Given the description of an element on the screen output the (x, y) to click on. 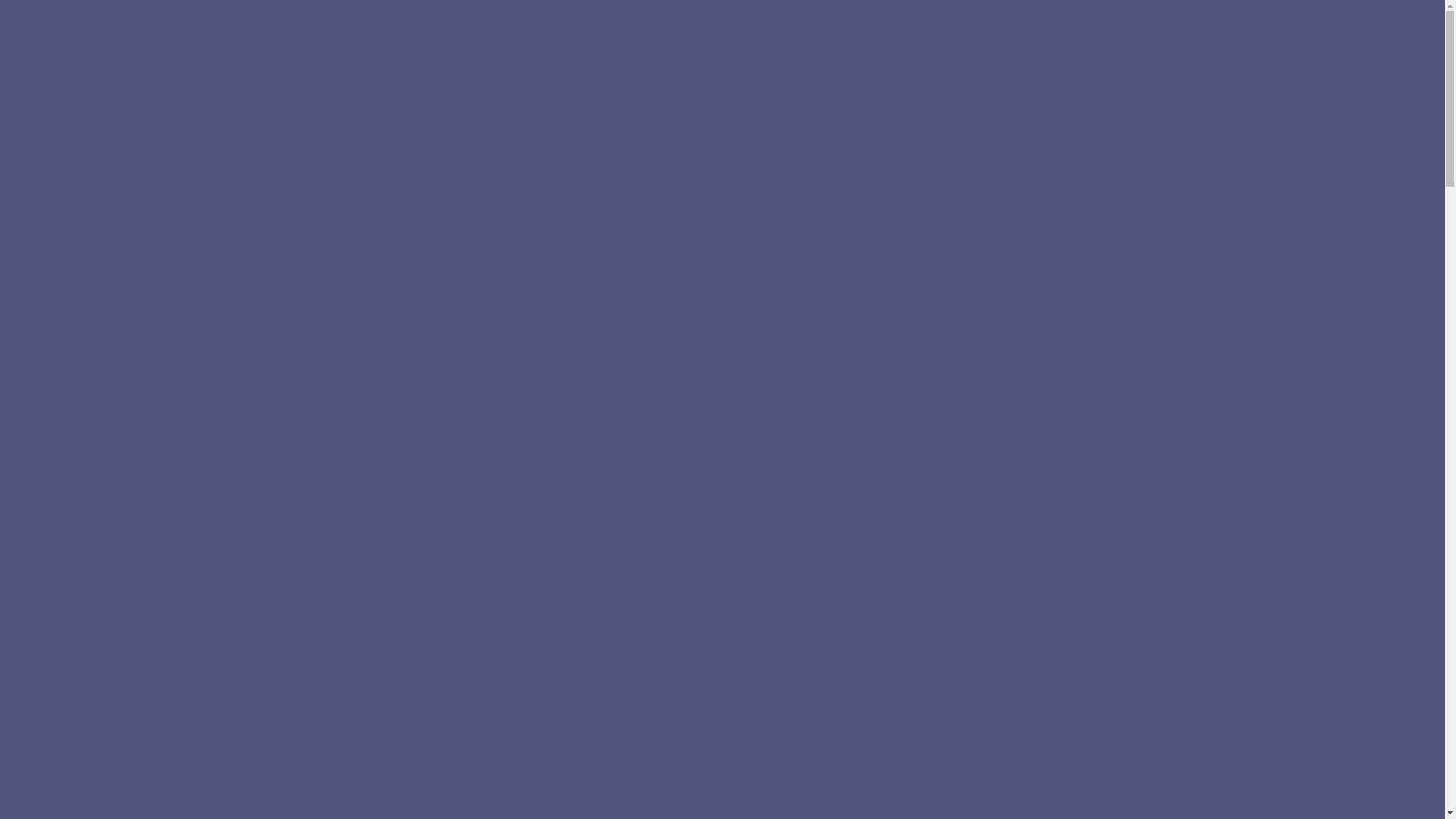
Contacto Element type: text (748, 165)
Aviso Legal Element type: text (748, 204)
607 786 420 Element type: text (1302, 304)
Gracias Element type: text (748, 184)
32 pies Element type: text (749, 107)
Alquiler de embarcaciones Element type: text (748, 126)
